Given the description of an element on the screen output the (x, y) to click on. 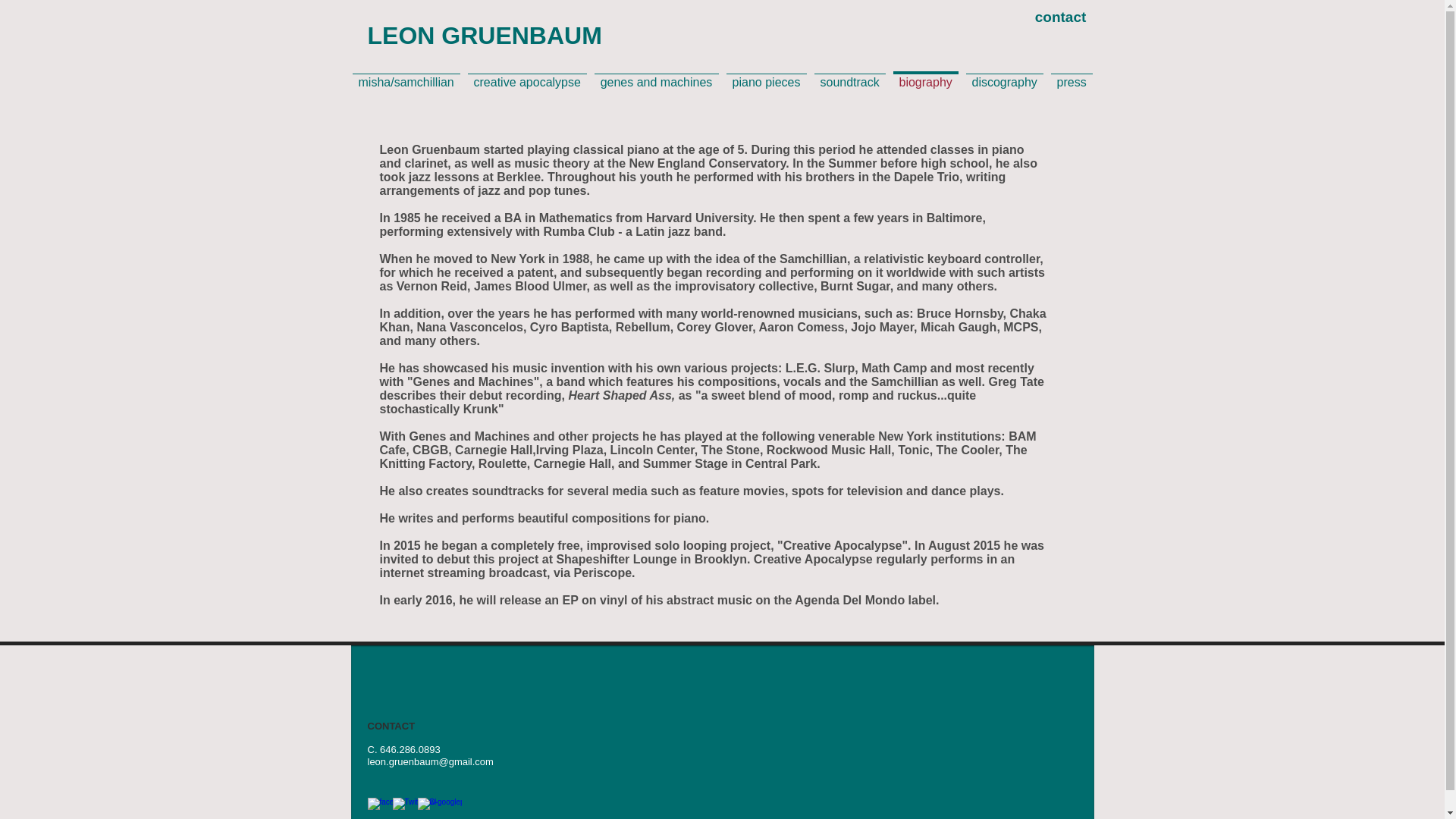
creative apocalypse (527, 74)
contact (1059, 17)
biography (924, 73)
press (1071, 74)
piano pieces (765, 74)
genes and machines (655, 74)
LEON GRUENBAUM (483, 35)
discography (1003, 74)
soundtrack (848, 74)
